Given the description of an element on the screen output the (x, y) to click on. 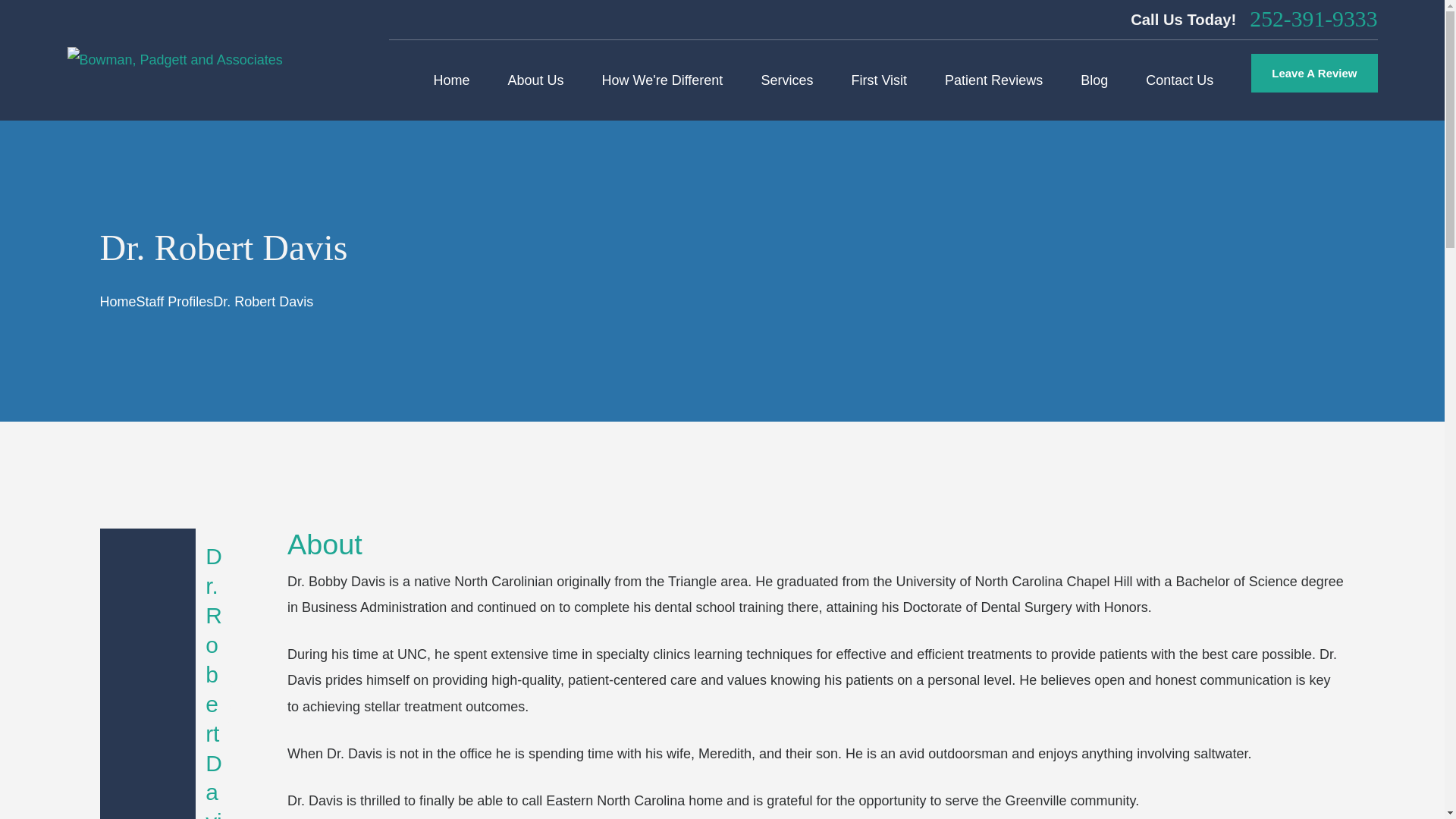
About Us (534, 80)
Home (174, 59)
How We're Different (662, 80)
Patient Reviews (993, 80)
252-391-9333 (1313, 19)
First Visit (878, 80)
Services (786, 80)
Go Home (118, 301)
